Given the description of an element on the screen output the (x, y) to click on. 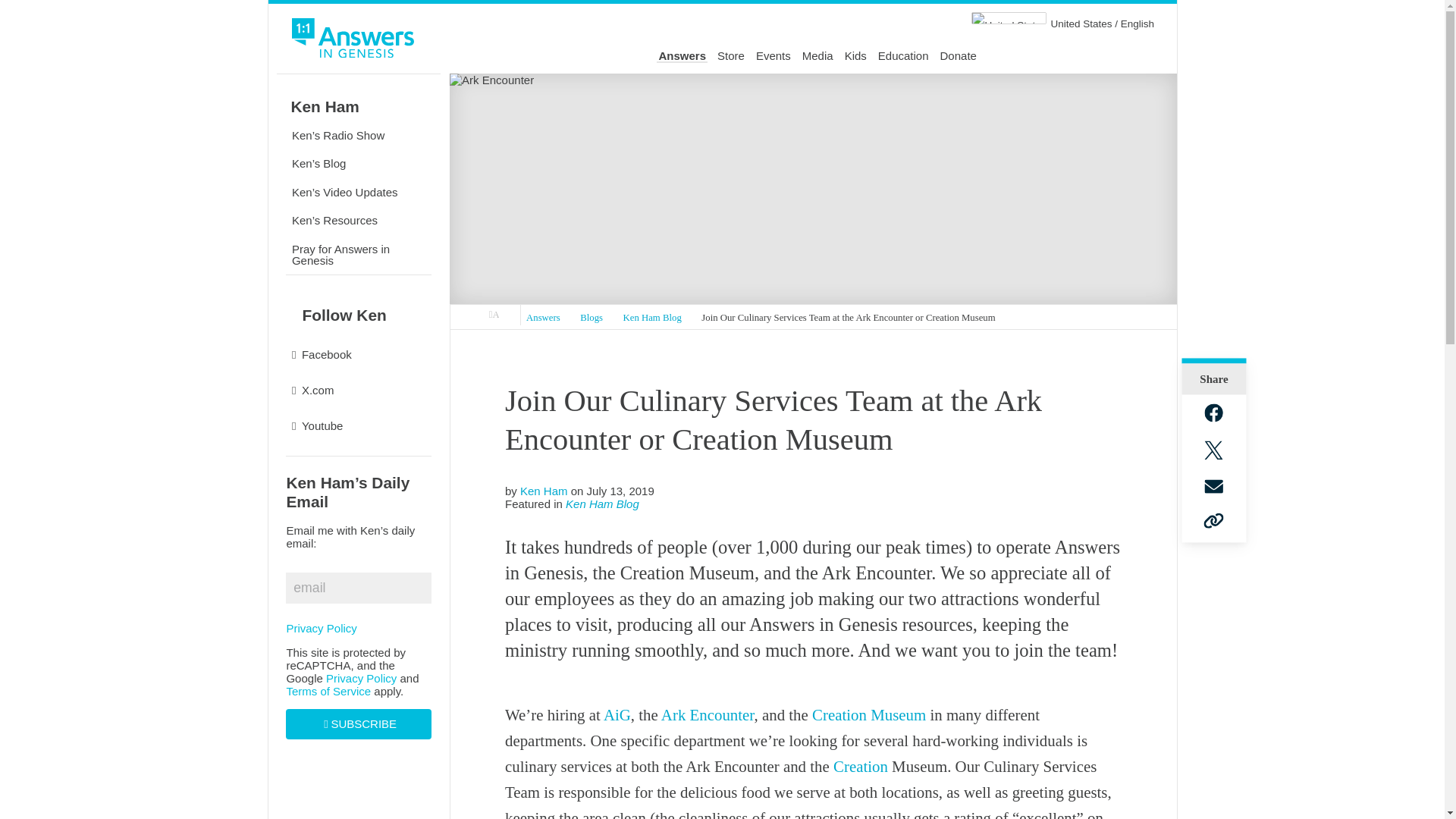
Answers in Genesis (494, 314)
Store (731, 55)
Ken Ham (543, 490)
Store (731, 55)
Answers (543, 318)
Ken Ham Blog (602, 503)
Blogs (591, 318)
AiG (617, 714)
Media (817, 55)
Answers (681, 55)
Answers in Genesis Home (353, 40)
Kids (855, 55)
Ken Ham Blog (652, 318)
Creation (860, 766)
Ark Encounter (707, 714)
